Given the description of an element on the screen output the (x, y) to click on. 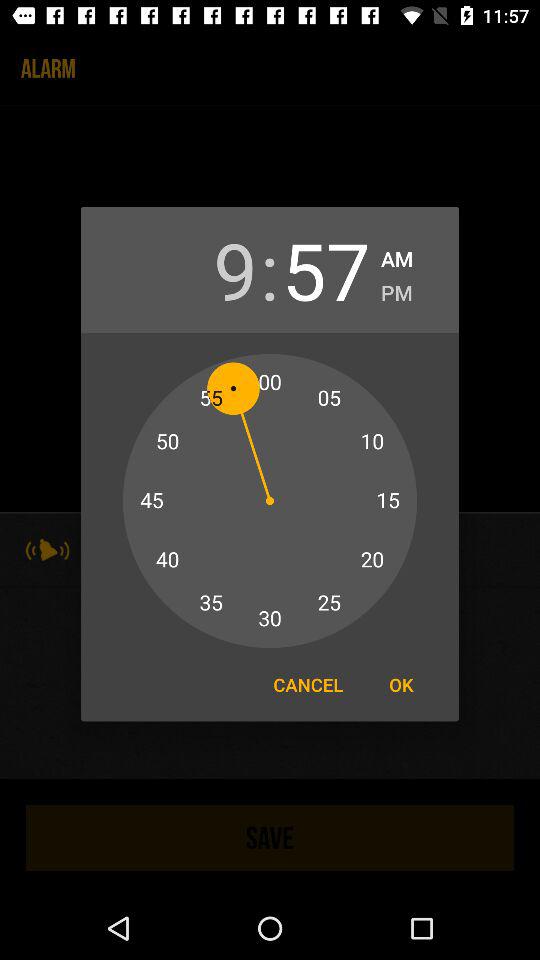
turn off item to the left of am item (325, 269)
